Given the description of an element on the screen output the (x, y) to click on. 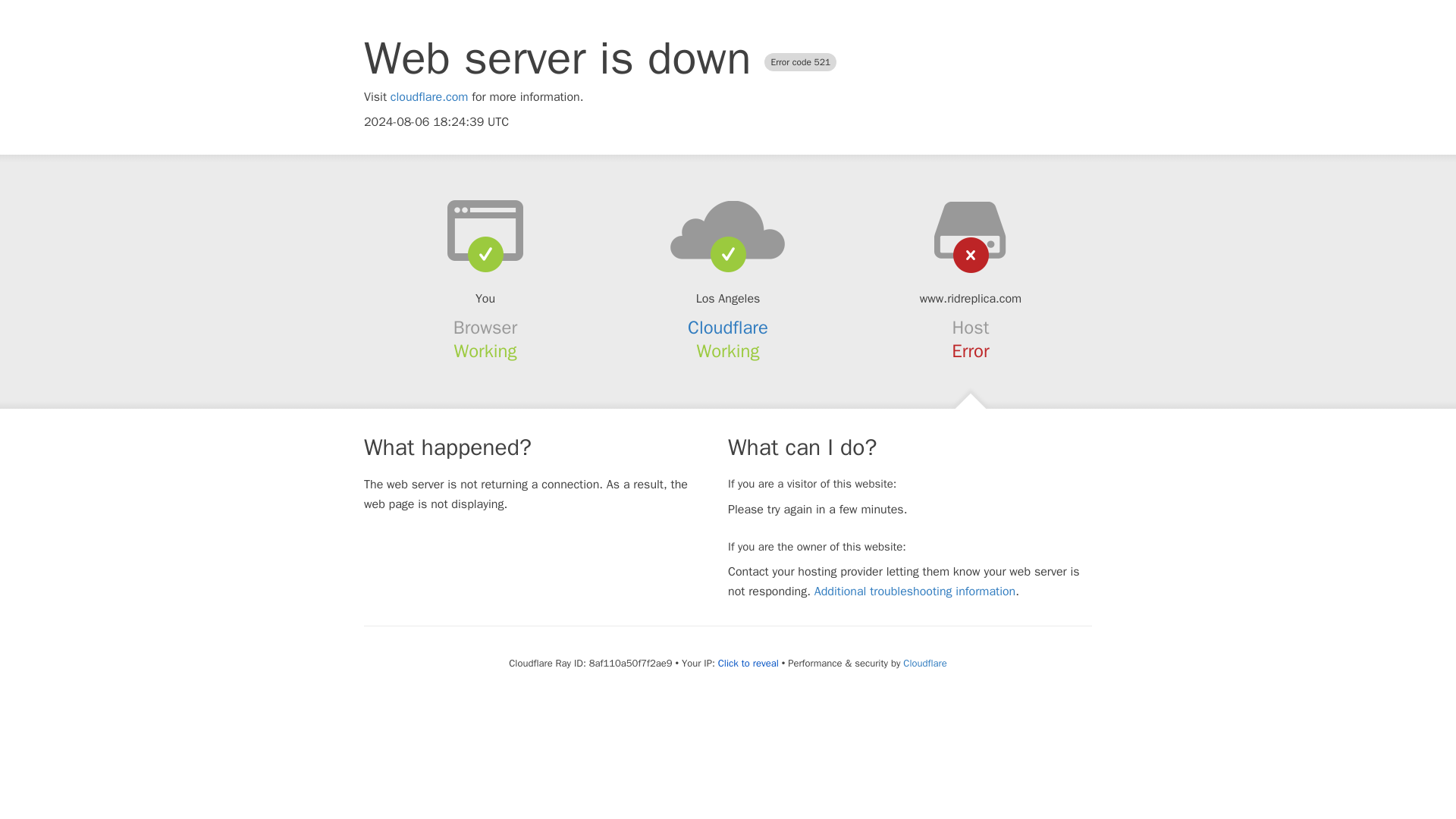
Cloudflare (924, 662)
cloudflare.com (429, 96)
Click to reveal (747, 663)
Additional troubleshooting information (913, 590)
Cloudflare (727, 327)
